Given the description of an element on the screen output the (x, y) to click on. 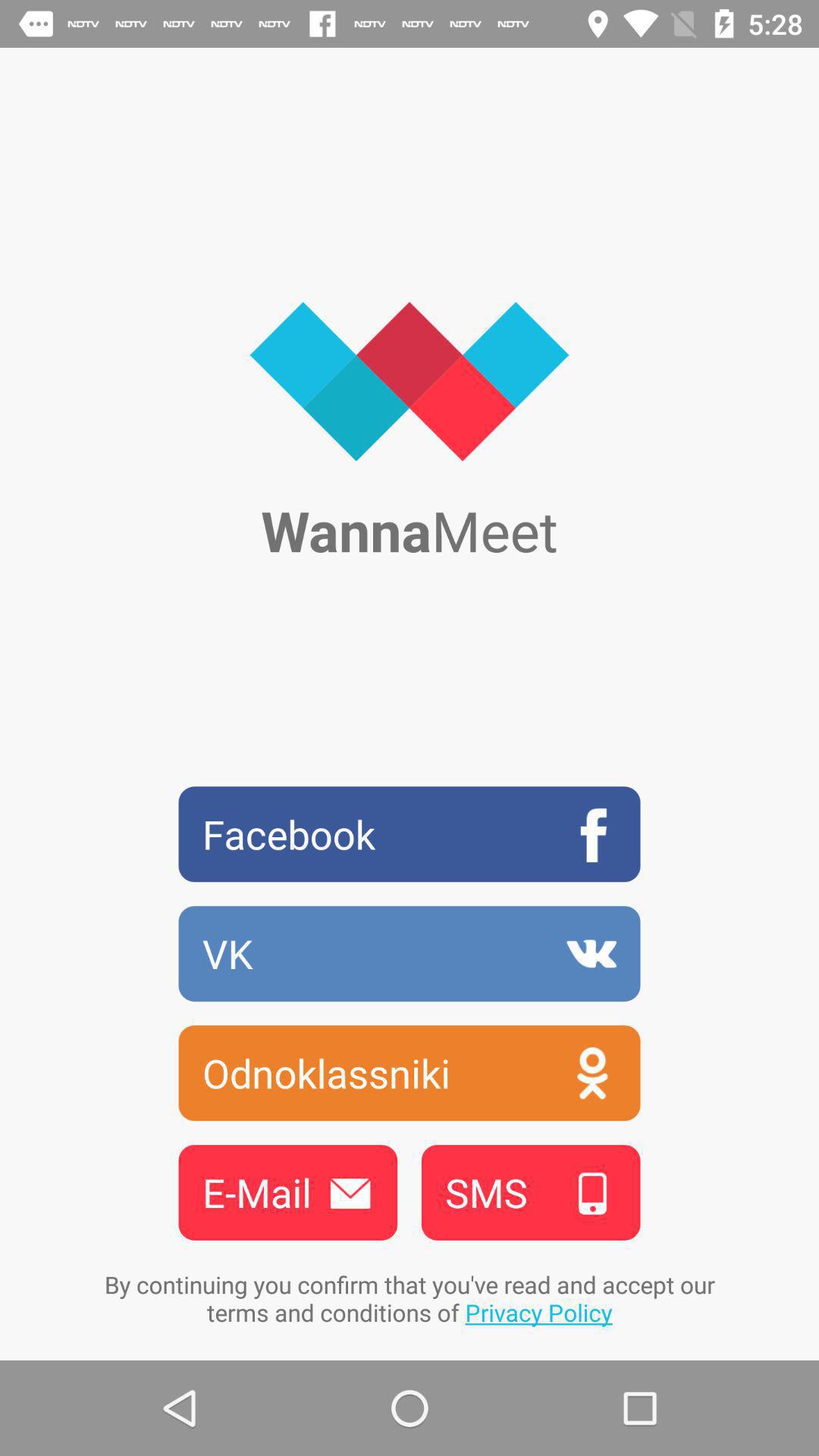
click icon above vk item (409, 834)
